Given the description of an element on the screen output the (x, y) to click on. 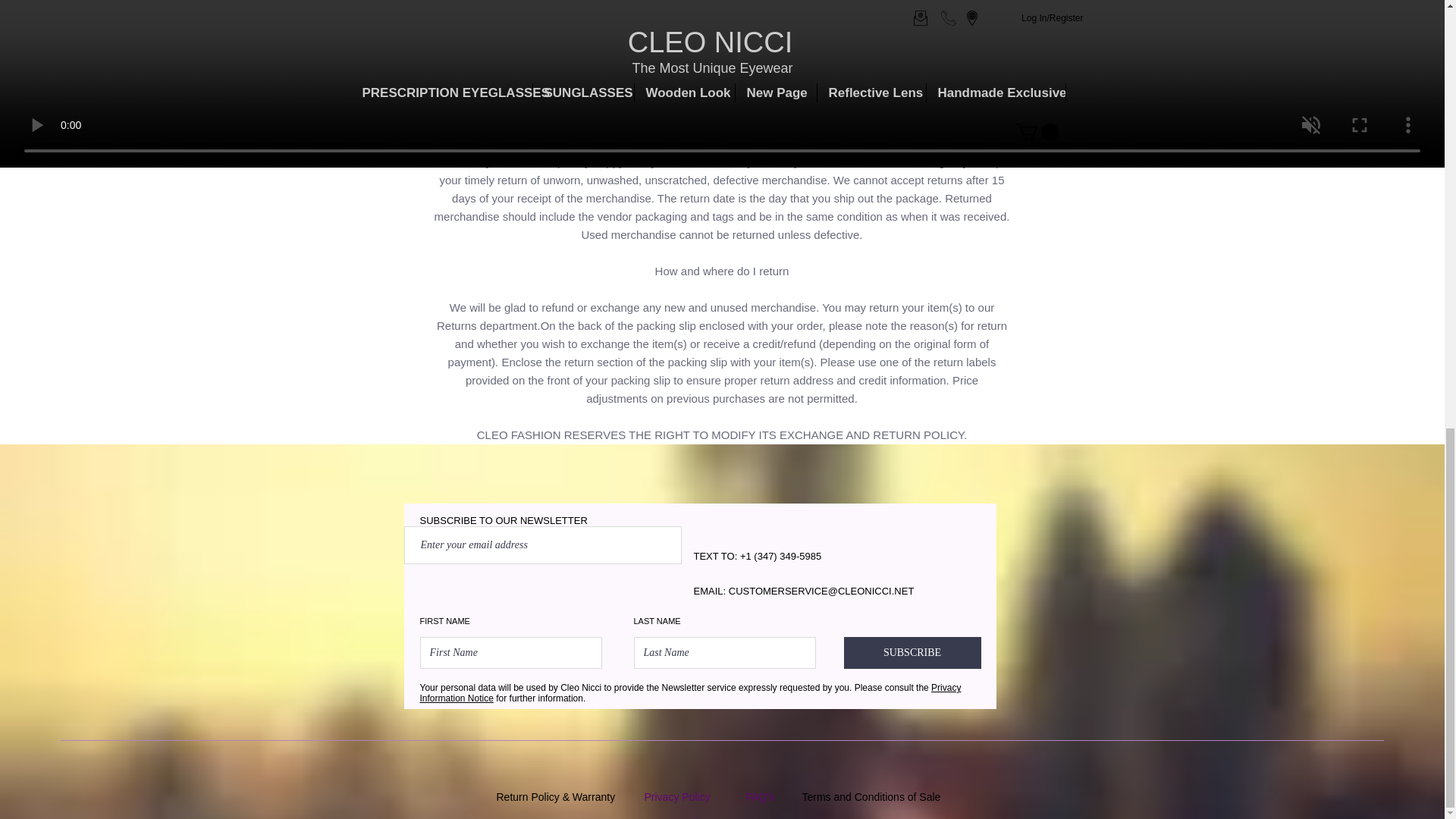
Terms and Conditions of Sale (871, 797)
Privacy Policy (677, 797)
Privacy Information Notice (690, 692)
FAQ's (759, 797)
SUBSCRIBE (911, 653)
